Given the description of an element on the screen output the (x, y) to click on. 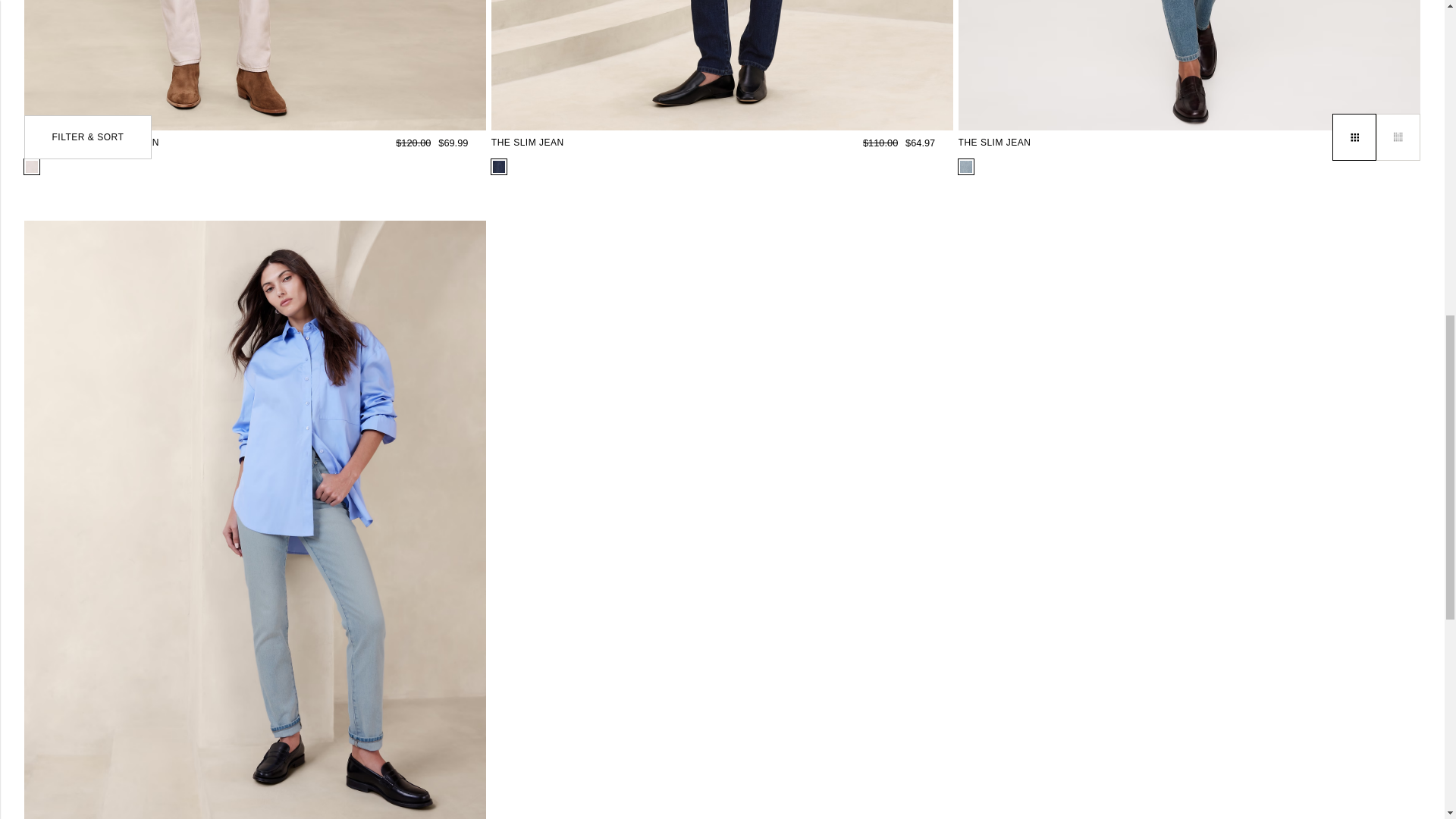
blue (499, 166)
white (31, 166)
blue (965, 166)
